Given the description of an element on the screen output the (x, y) to click on. 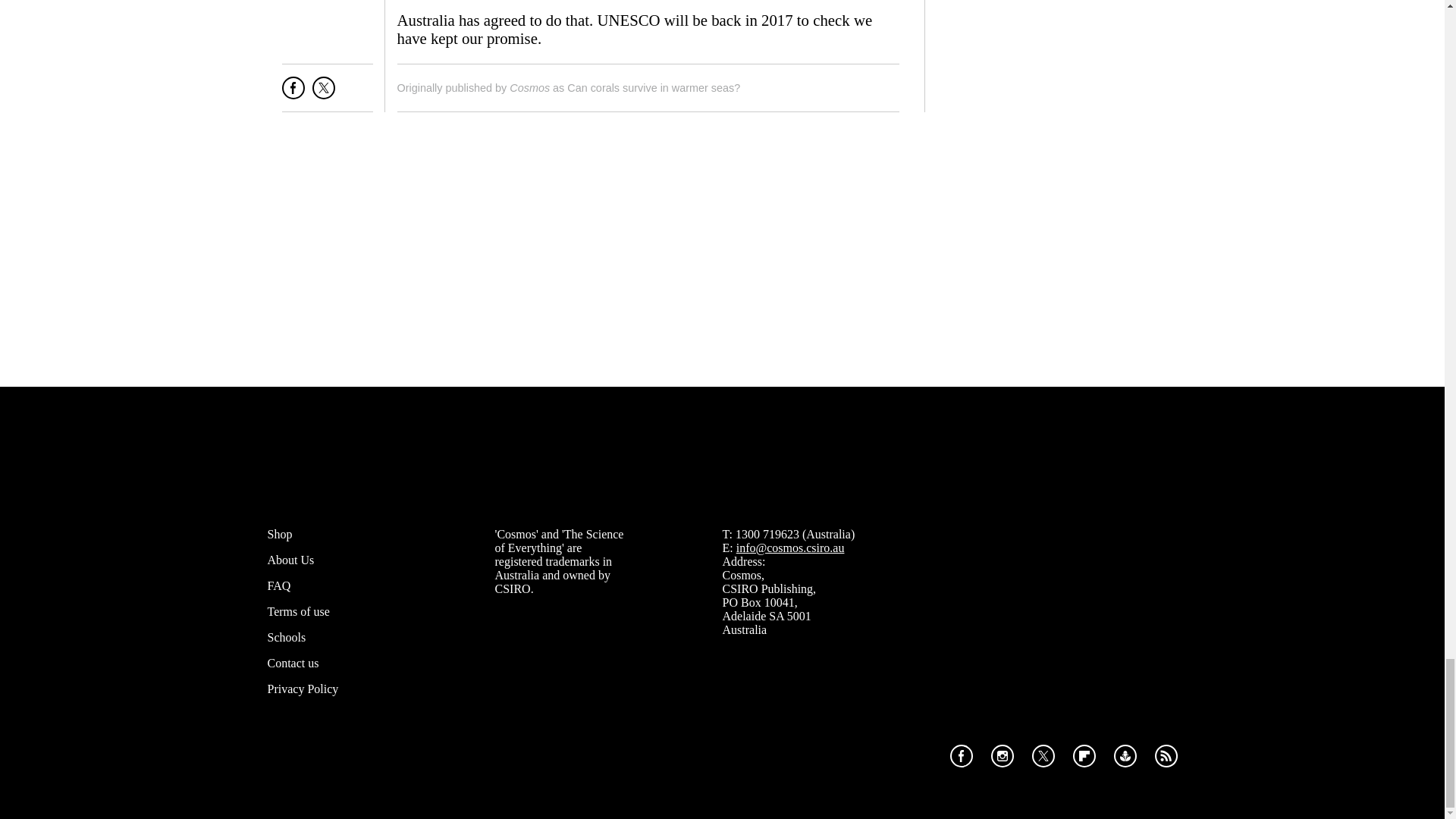
Tweet (323, 93)
Share on Facebook (293, 93)
Can corals survive in warmer seas? (653, 87)
